Given the description of an element on the screen output the (x, y) to click on. 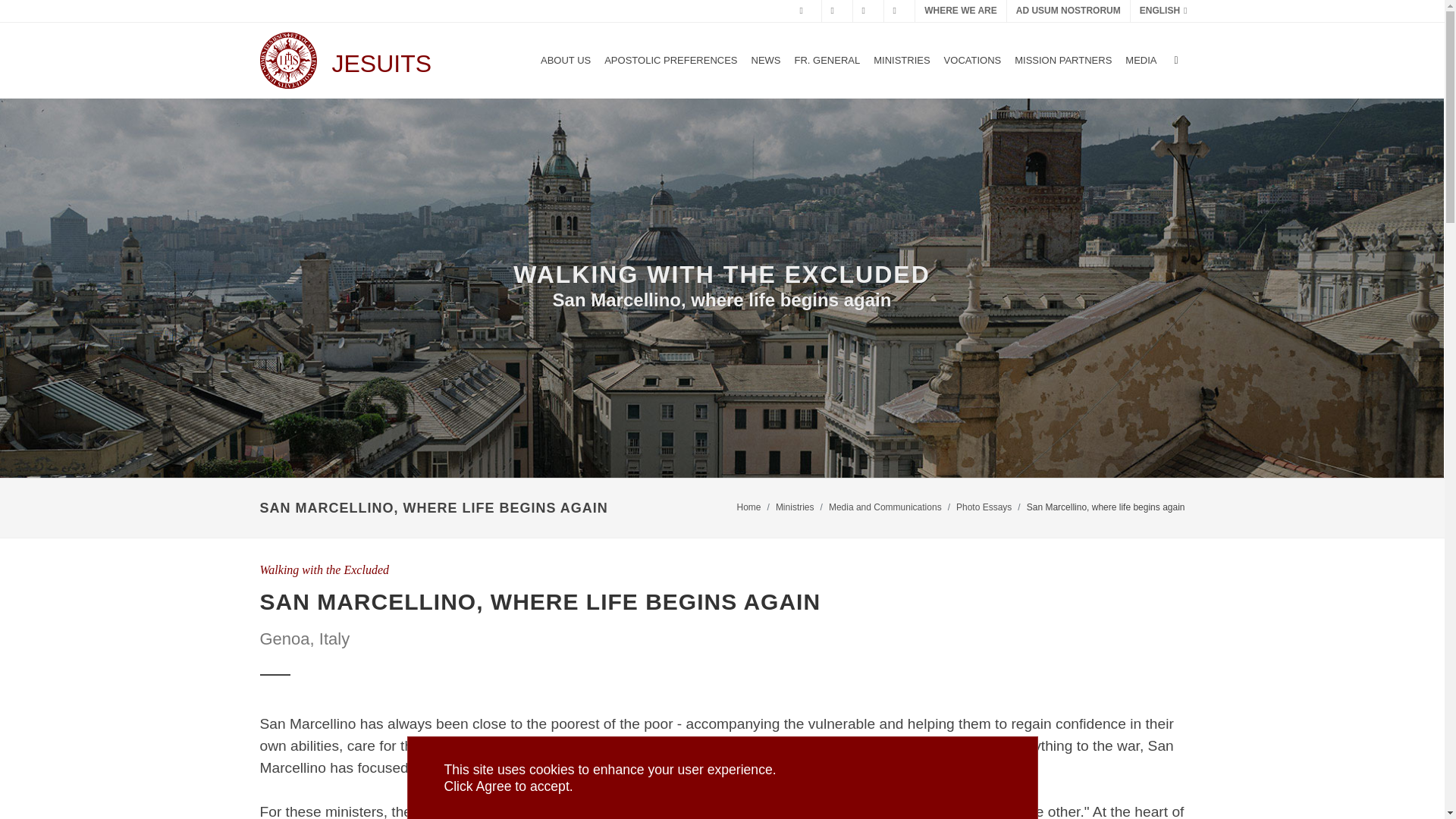
NEWS (766, 60)
ENGLISH (1163, 11)
APOSTOLIC PREFERENCES (670, 60)
ABOUT US (565, 60)
Apostolic Preferences (670, 60)
AD USUM NOSTRORUM (1068, 11)
JESUITS (344, 60)
About Us (565, 60)
WHERE WE ARE (960, 11)
